Given the description of an element on the screen output the (x, y) to click on. 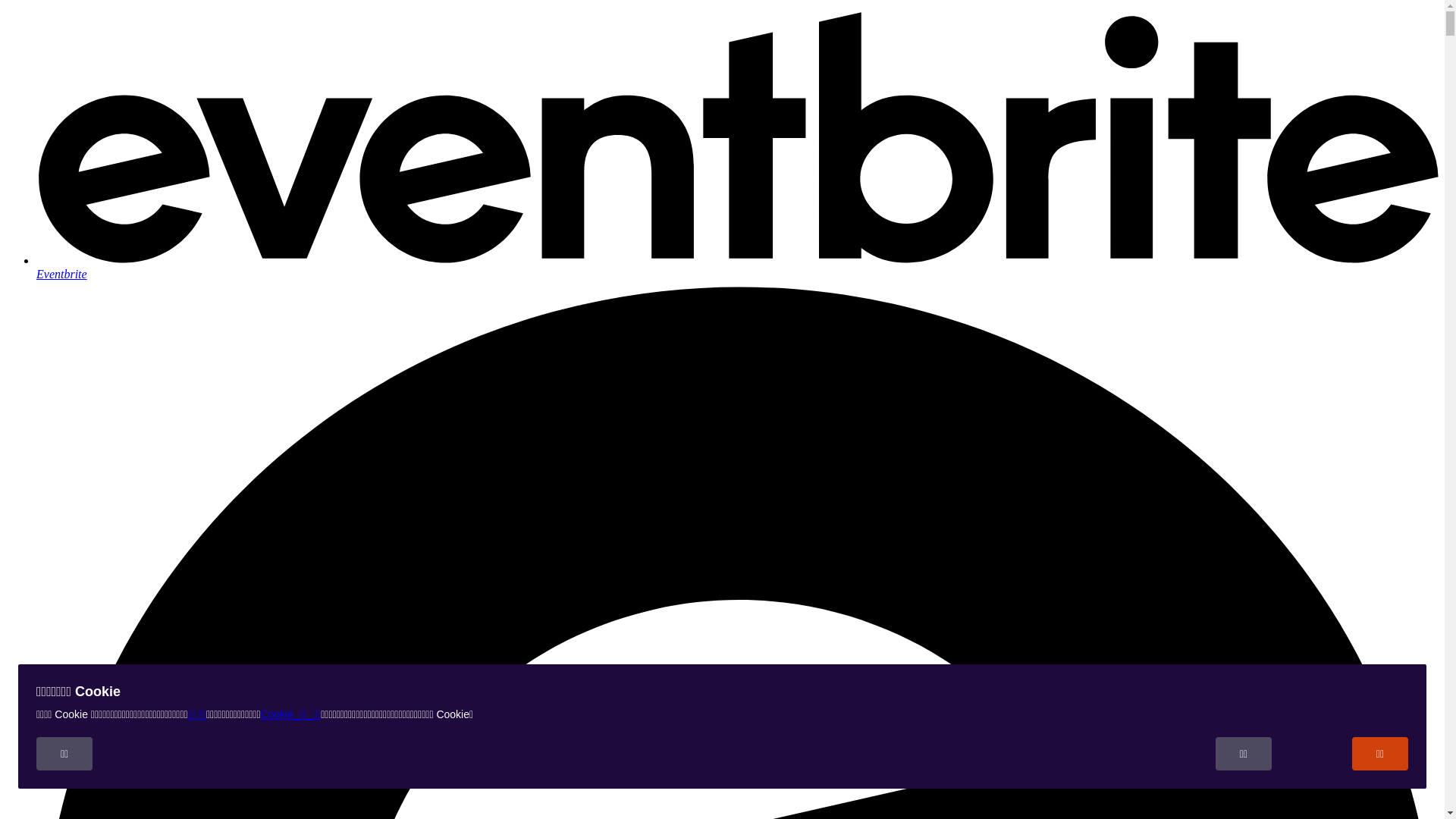
Eventbrite Element type: text (737, 267)
